Given the description of an element on the screen output the (x, y) to click on. 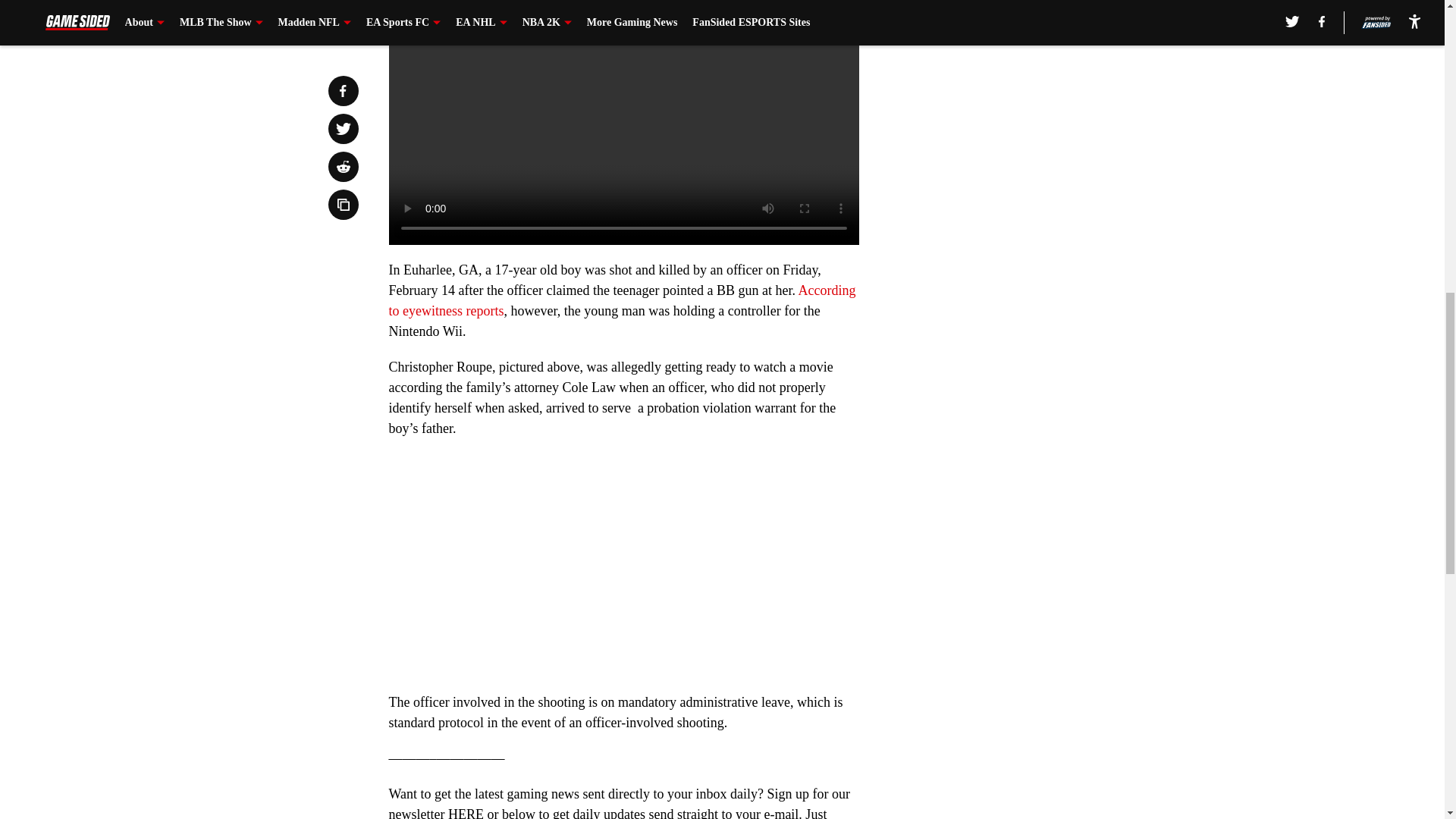
3rd party ad content (1047, 294)
According to eyewitness reports (622, 300)
3rd party ad content (1047, 84)
